Given the description of an element on the screen output the (x, y) to click on. 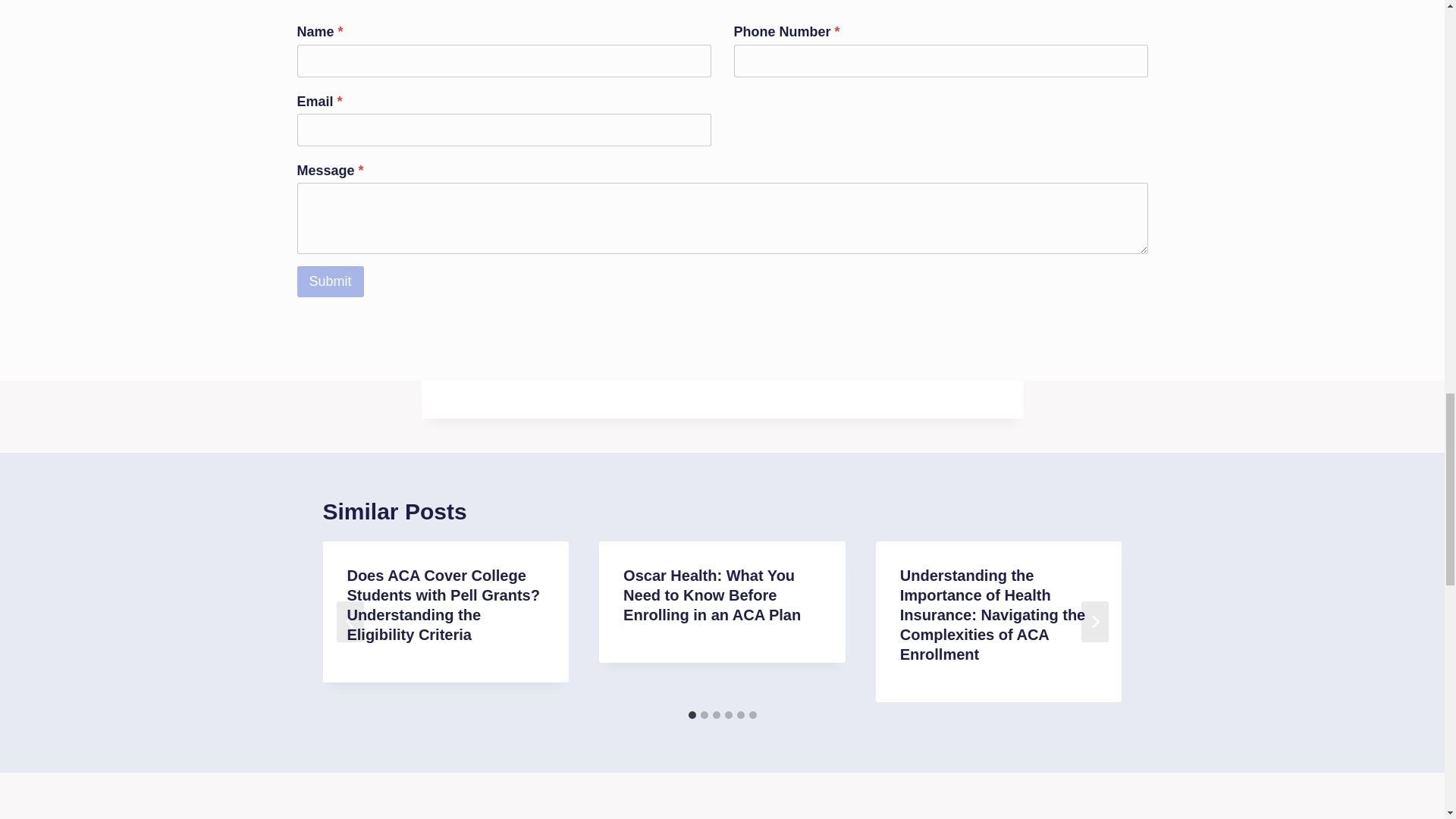
Submit (330, 281)
